Given the description of an element on the screen output the (x, y) to click on. 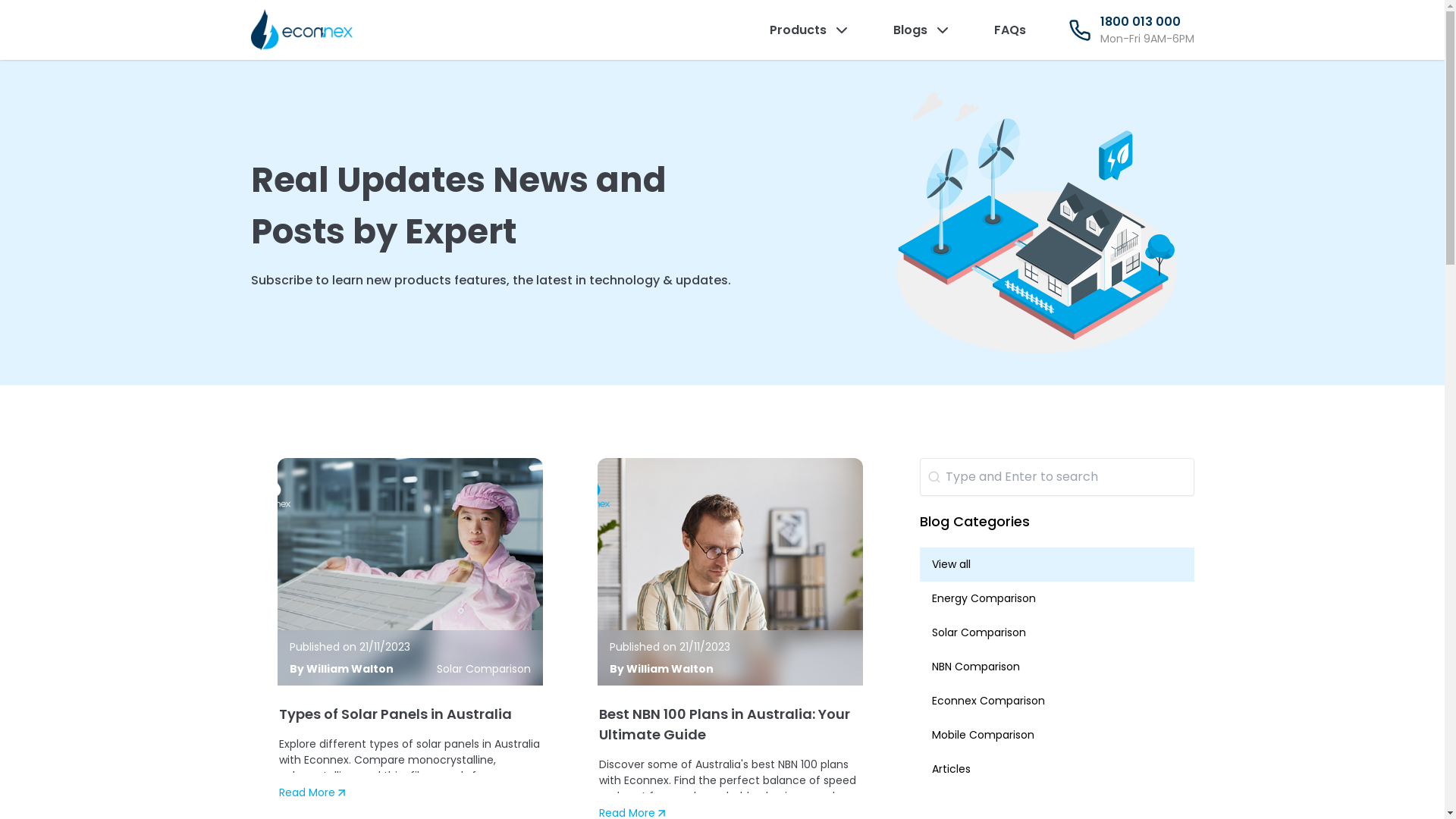
Read More Element type: text (313, 792)
1800 013 000
Mon-Fri 9AM-6PM Element type: text (1130, 29)
FAQs Element type: text (1009, 29)
Read More Element type: text (410, 792)
